Given the description of an element on the screen output the (x, y) to click on. 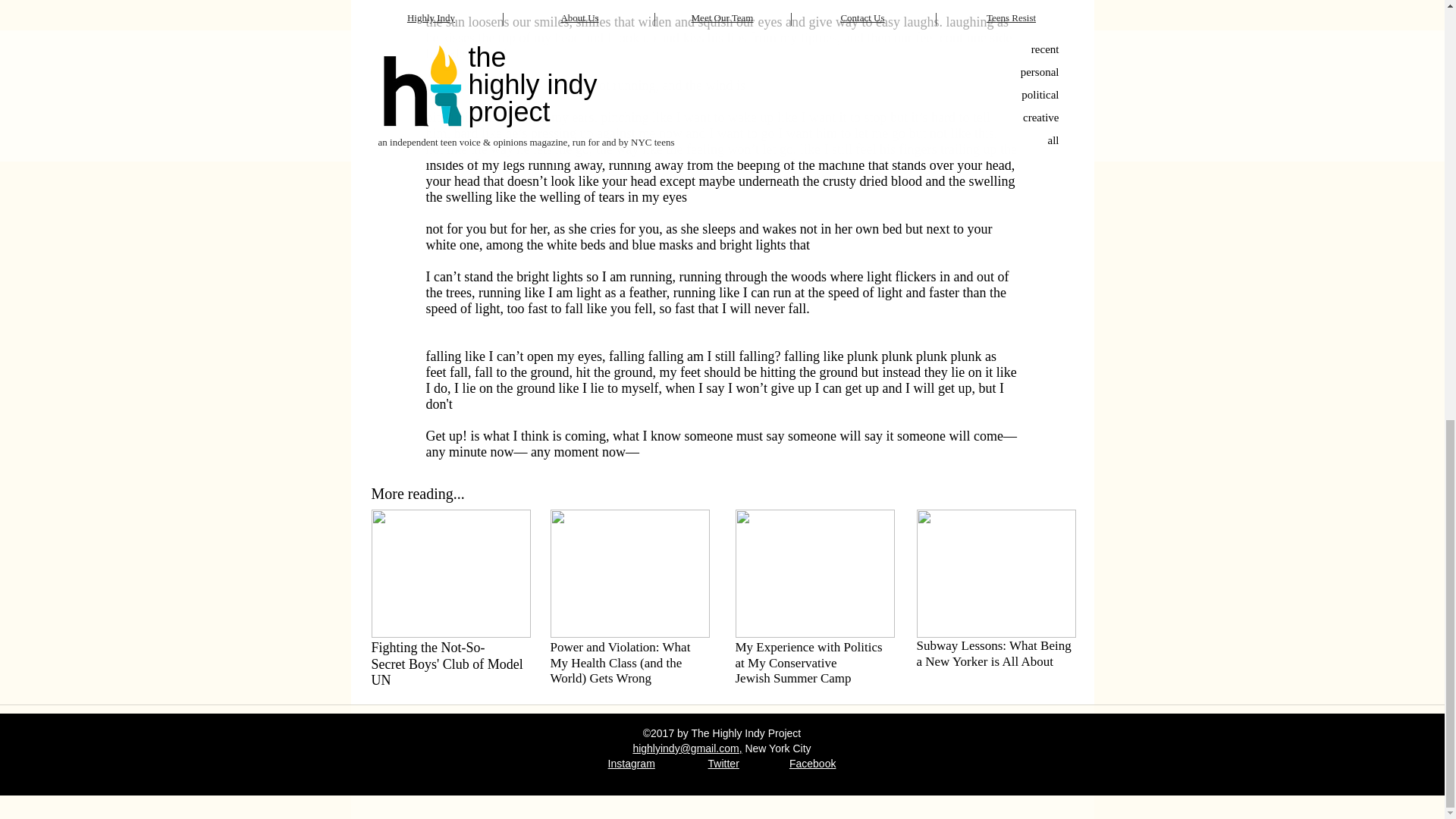
file.jpg (815, 573)
Facebook (812, 763)
Twitter (723, 763)
Subway Lessons: What Being a New Yorker is All About (992, 653)
Fighting the Not-So-Secret Boys' Club of Model UN (446, 663)
Instagram (631, 763)
